Given the description of an element on the screen output the (x, y) to click on. 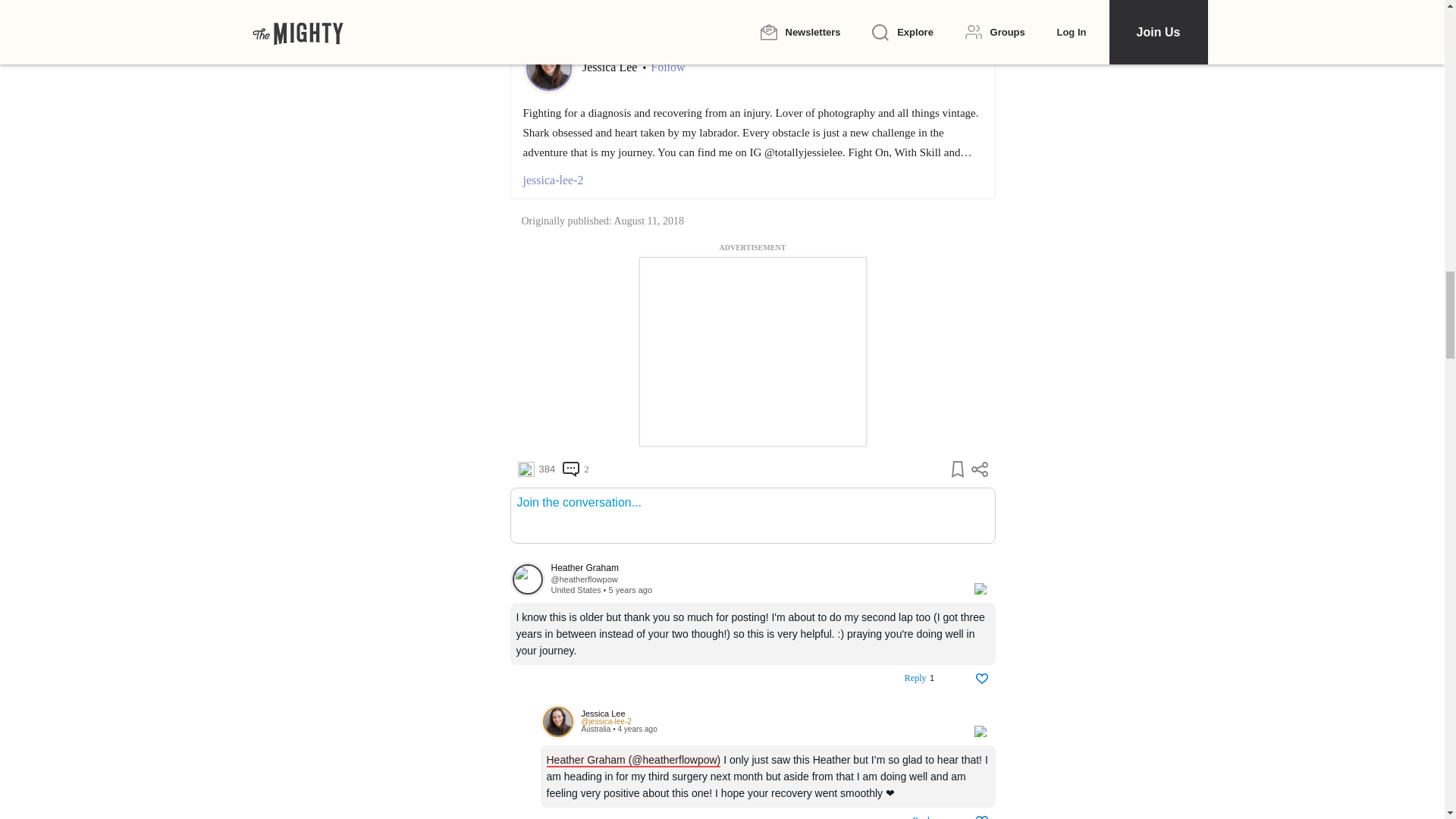
Jessica Lee (611, 66)
jessica-lee-2 (752, 180)
View their profile (754, 568)
View their profile (605, 721)
384 (535, 468)
View their profile (557, 721)
View their profile (769, 714)
View their profile (583, 578)
View their profile (526, 579)
Follow (667, 67)
